Given the description of an element on the screen output the (x, y) to click on. 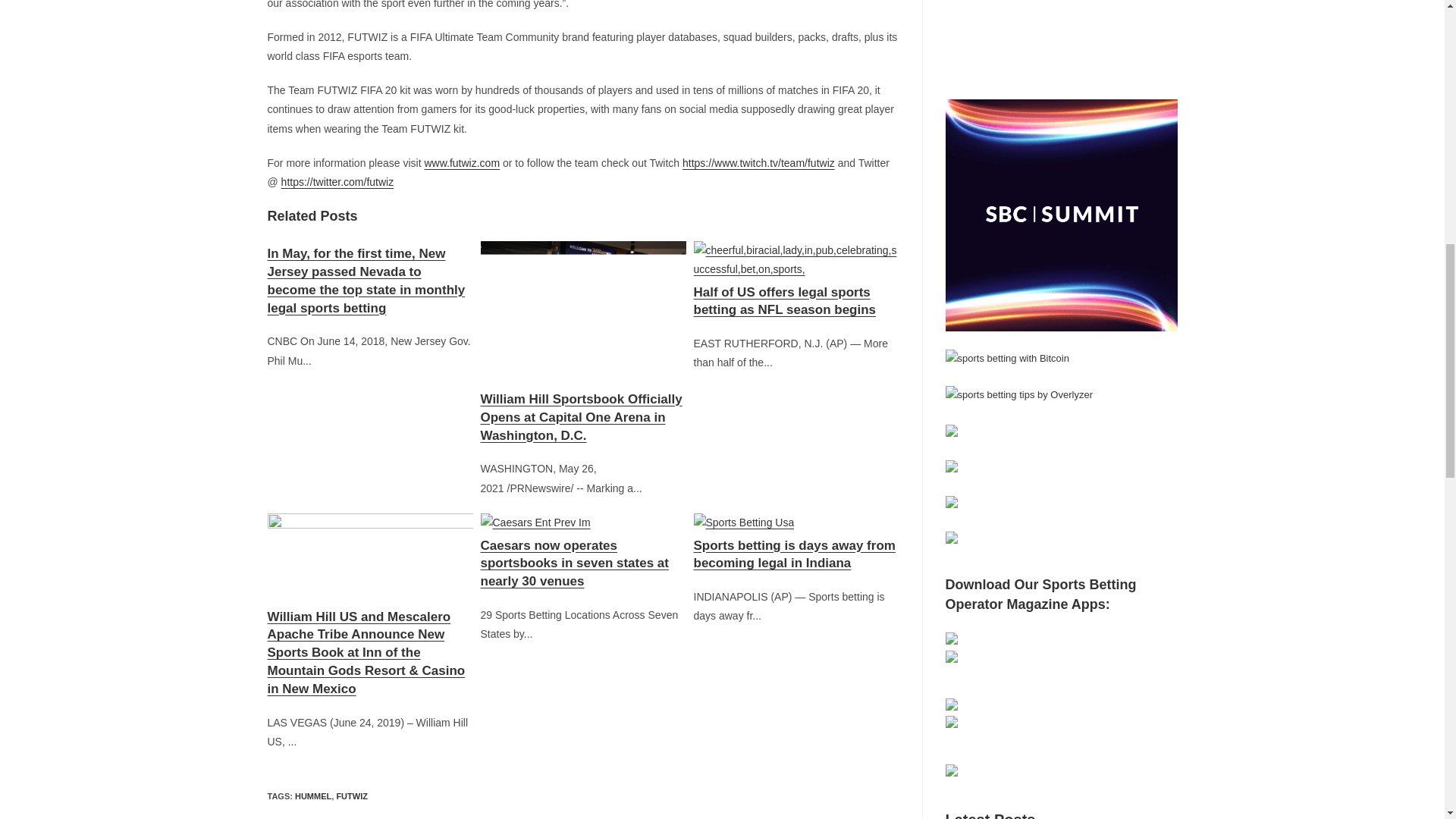
Sports betting is days away from becoming legal in Indiana (795, 544)
www.futwiz.com (461, 162)
FUTWIZ (352, 795)
Half of US offers legal sports betting as NFL season begins (795, 286)
HUMMEL (313, 795)
